Given the description of an element on the screen output the (x, y) to click on. 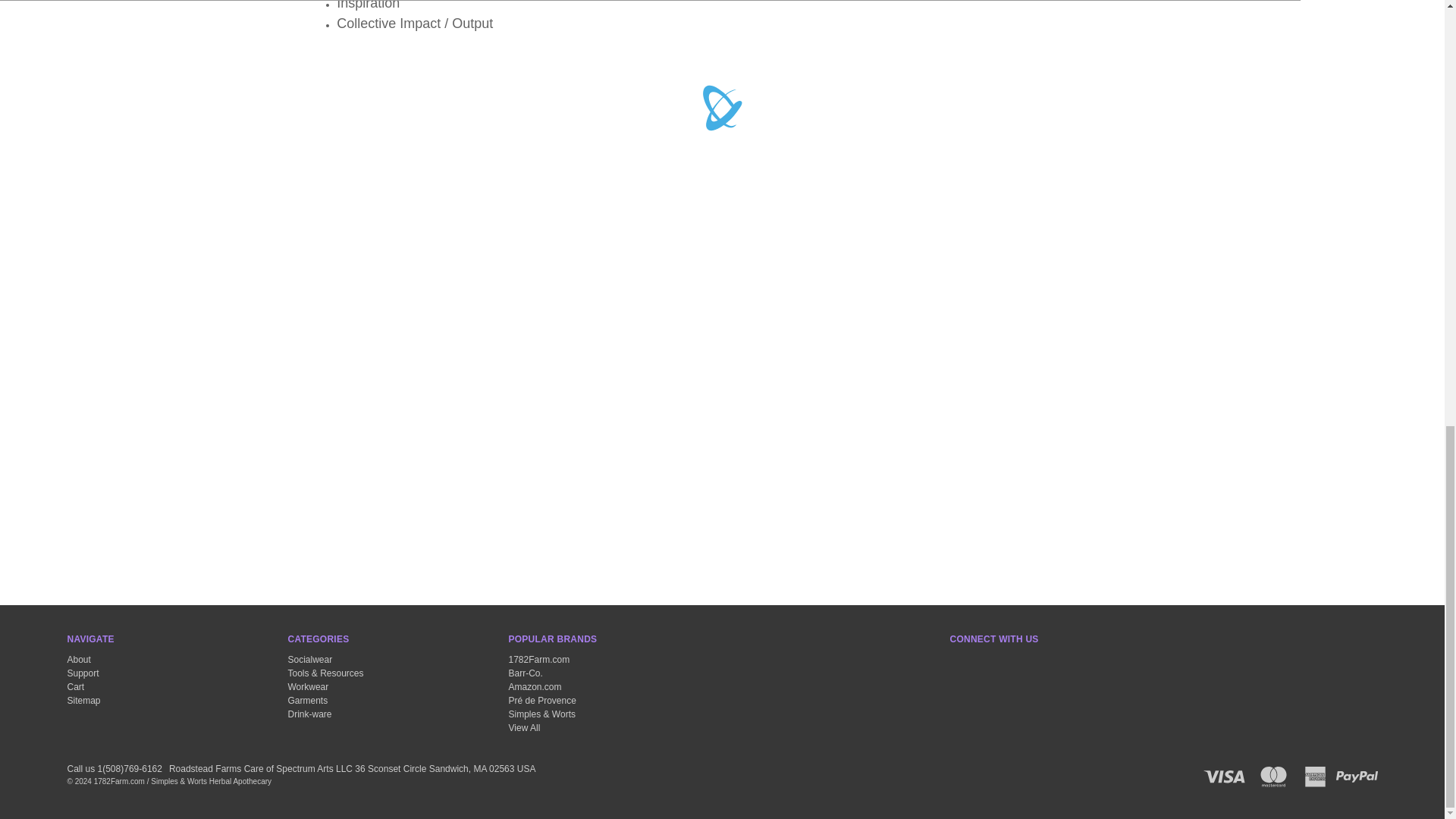
Support (82, 673)
Cart (75, 686)
Socialwear (310, 659)
Sitemap (83, 700)
About (78, 659)
